Given the description of an element on the screen output the (x, y) to click on. 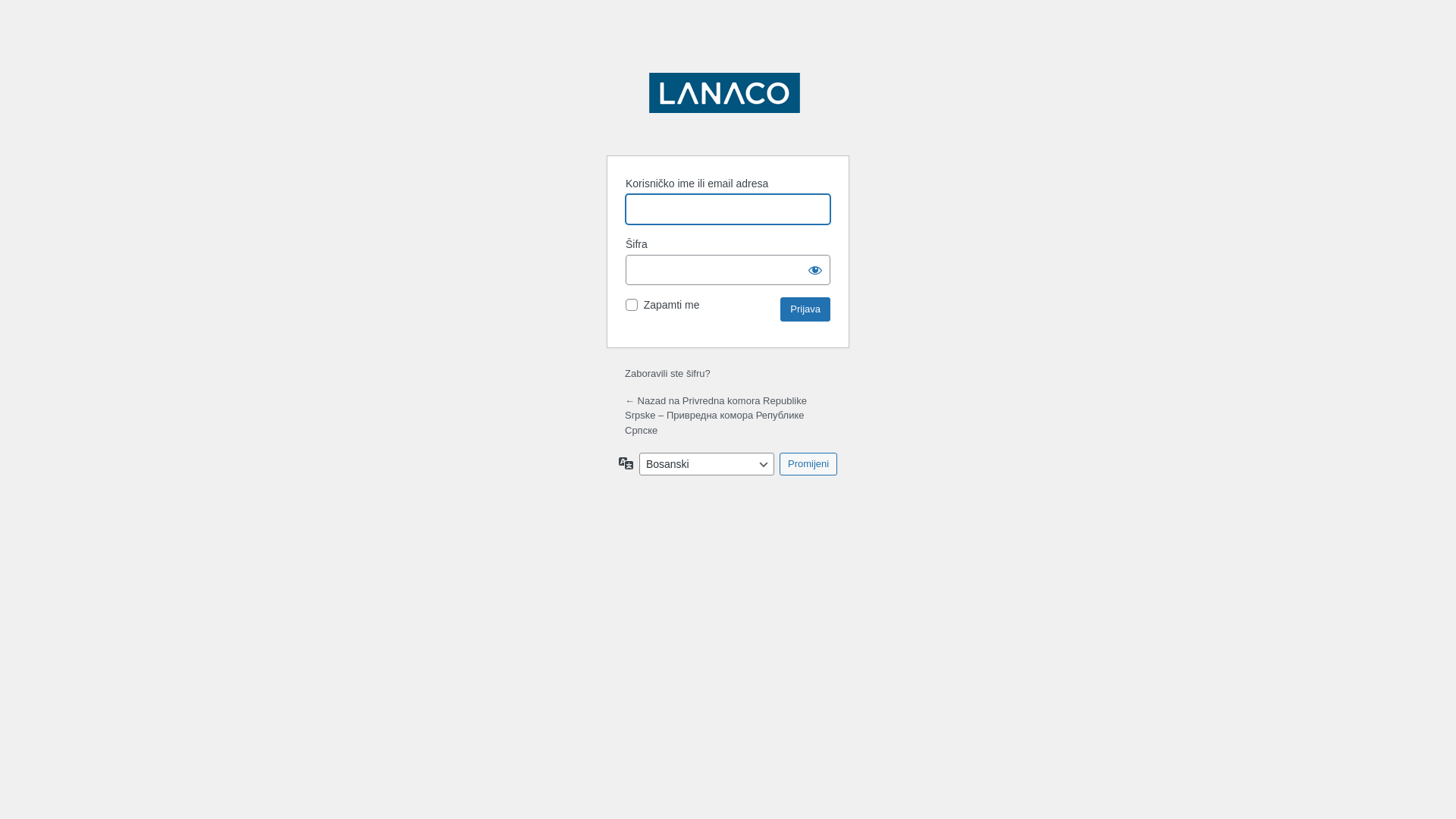
Zasnovano na WordPressu Element type: text (727, 104)
Prijava Element type: text (805, 309)
Promijeni Element type: text (808, 463)
